Given the description of an element on the screen output the (x, y) to click on. 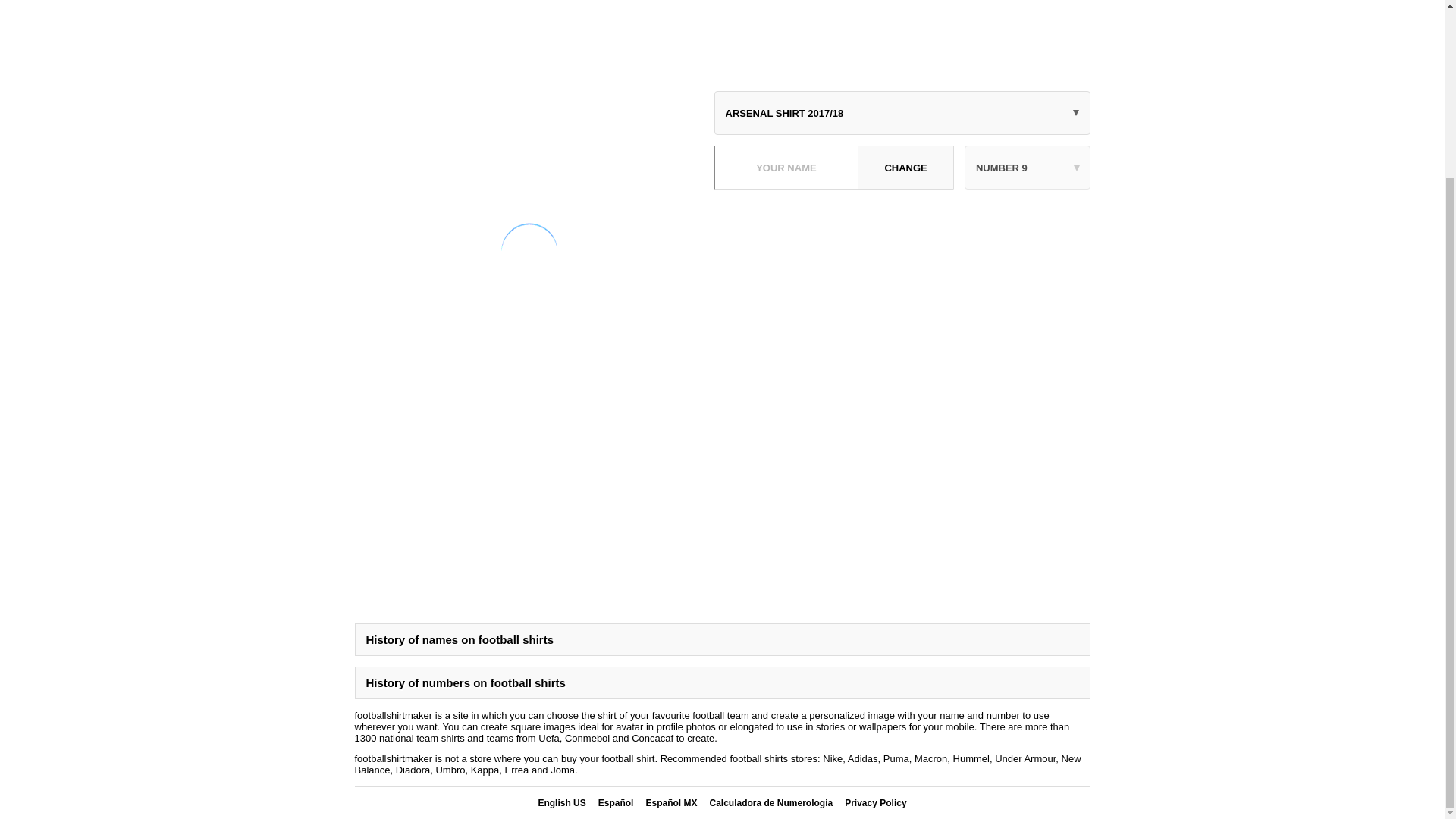
Privacy Policy (874, 802)
CHANGE (905, 167)
History of numbers on football shirts (722, 682)
Advertisement (722, 40)
CHANGE (905, 167)
English US (561, 802)
Calculadora de Numerologia (770, 802)
Advertisement (902, 305)
History of names on football shirts (722, 639)
